Given the description of an element on the screen output the (x, y) to click on. 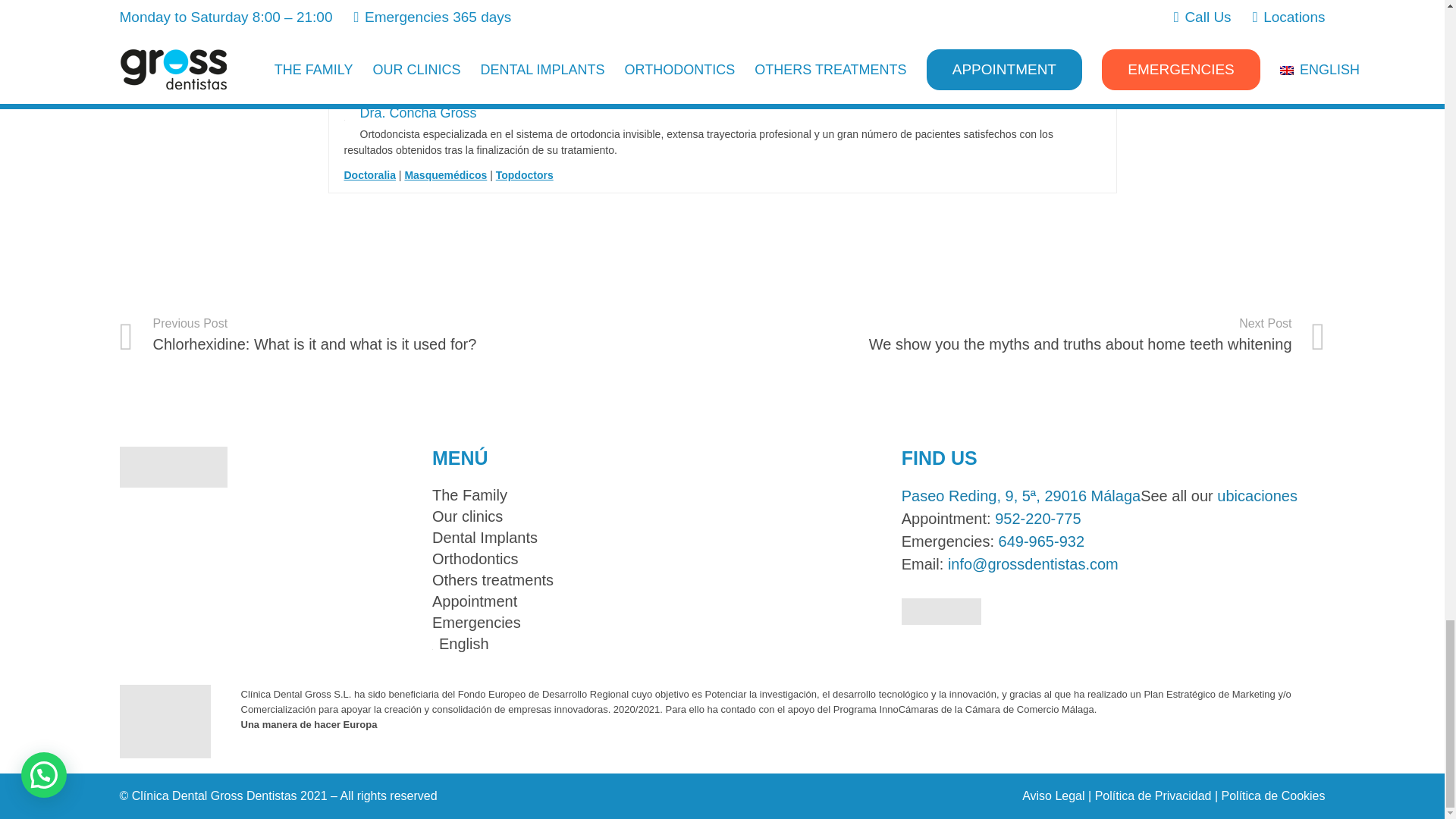
Chlorhexidine: What is it and what is it used for? (420, 334)
Topdoctors (524, 174)
Email Dental Clinic Gross Dentistas Malaga (1032, 564)
We show you the myths and truths about home teeth whitening (1023, 334)
Dra. Concha Gross (417, 112)
Doctoralia (369, 174)
English (460, 643)
Contact us (710, 42)
